Given the description of an element on the screen output the (x, y) to click on. 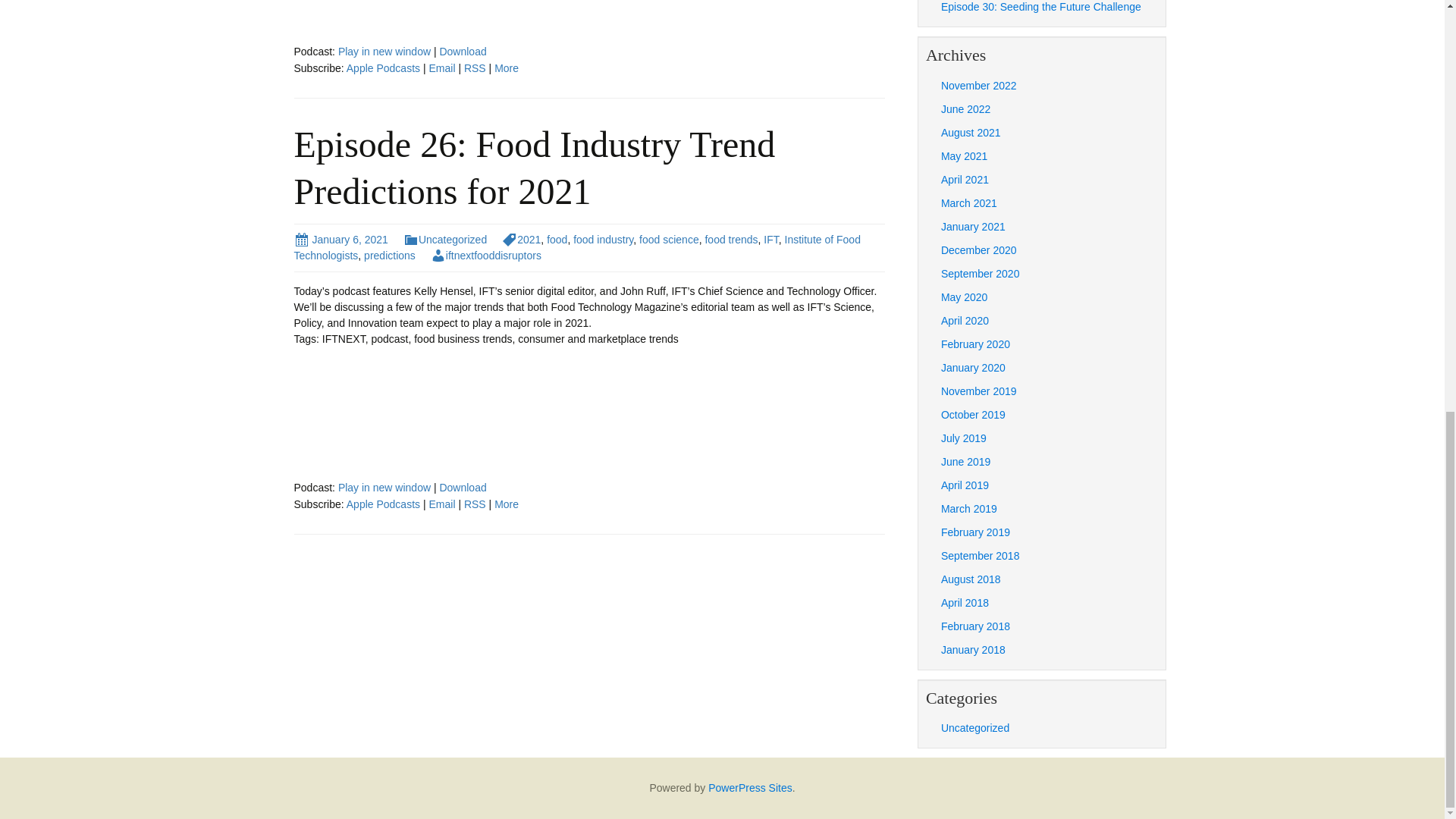
January 6, 2021 (341, 239)
RSS (475, 68)
Episode 26: Food Industry Trend Predictions for 2021 (535, 167)
Play in new window (383, 487)
Subscribe by Email (441, 503)
Download (462, 51)
IFT (769, 239)
Play in new window (383, 487)
Institute of Food Technologists (577, 247)
